Given the description of an element on the screen output the (x, y) to click on. 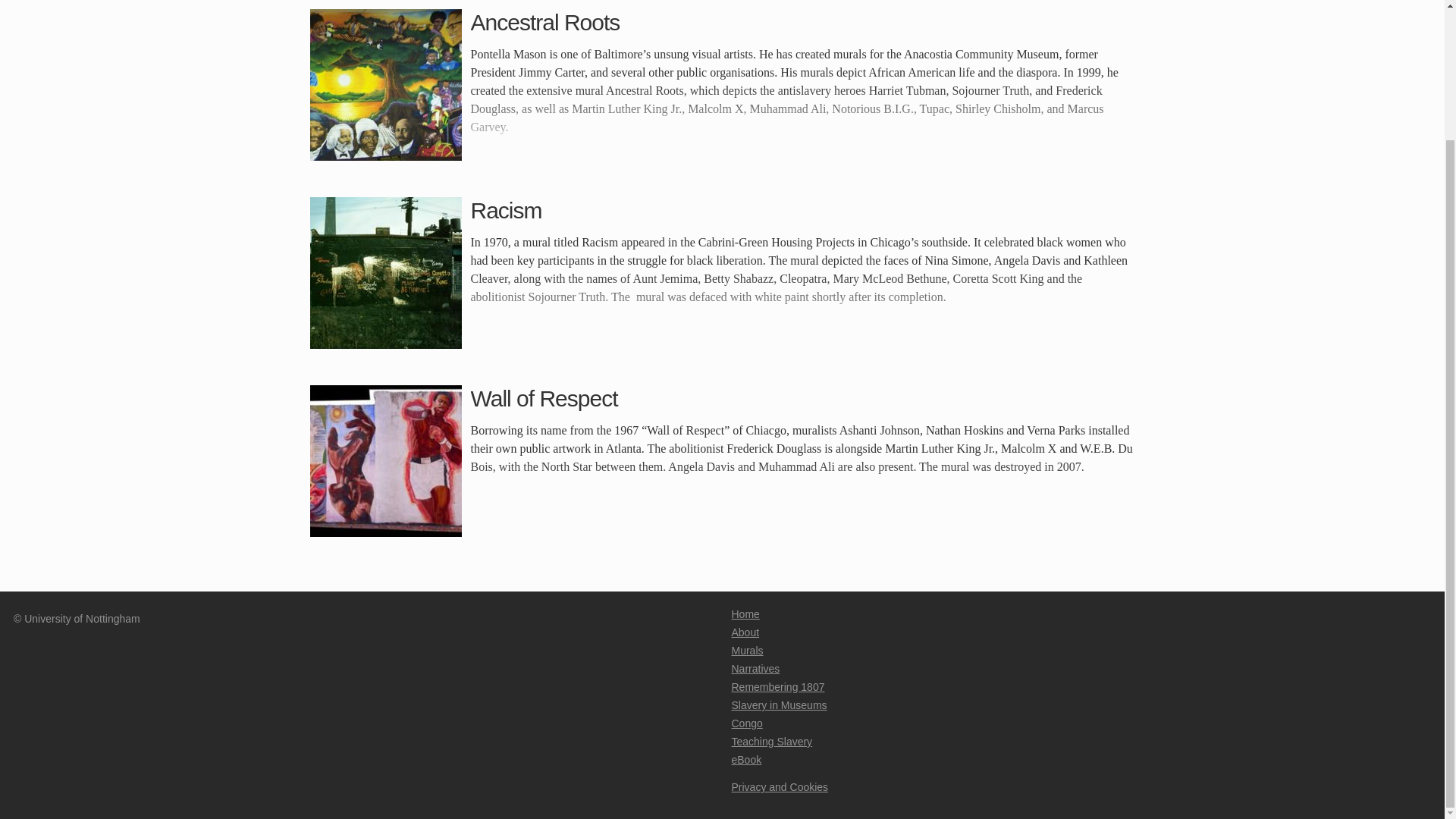
eBook (745, 759)
Home (744, 613)
About (744, 632)
Slavery in Museums (778, 705)
Remembering 1807 (777, 686)
Teaching Slavery (771, 741)
Narratives (754, 668)
Congo (745, 723)
Murals (746, 650)
